Given the description of an element on the screen output the (x, y) to click on. 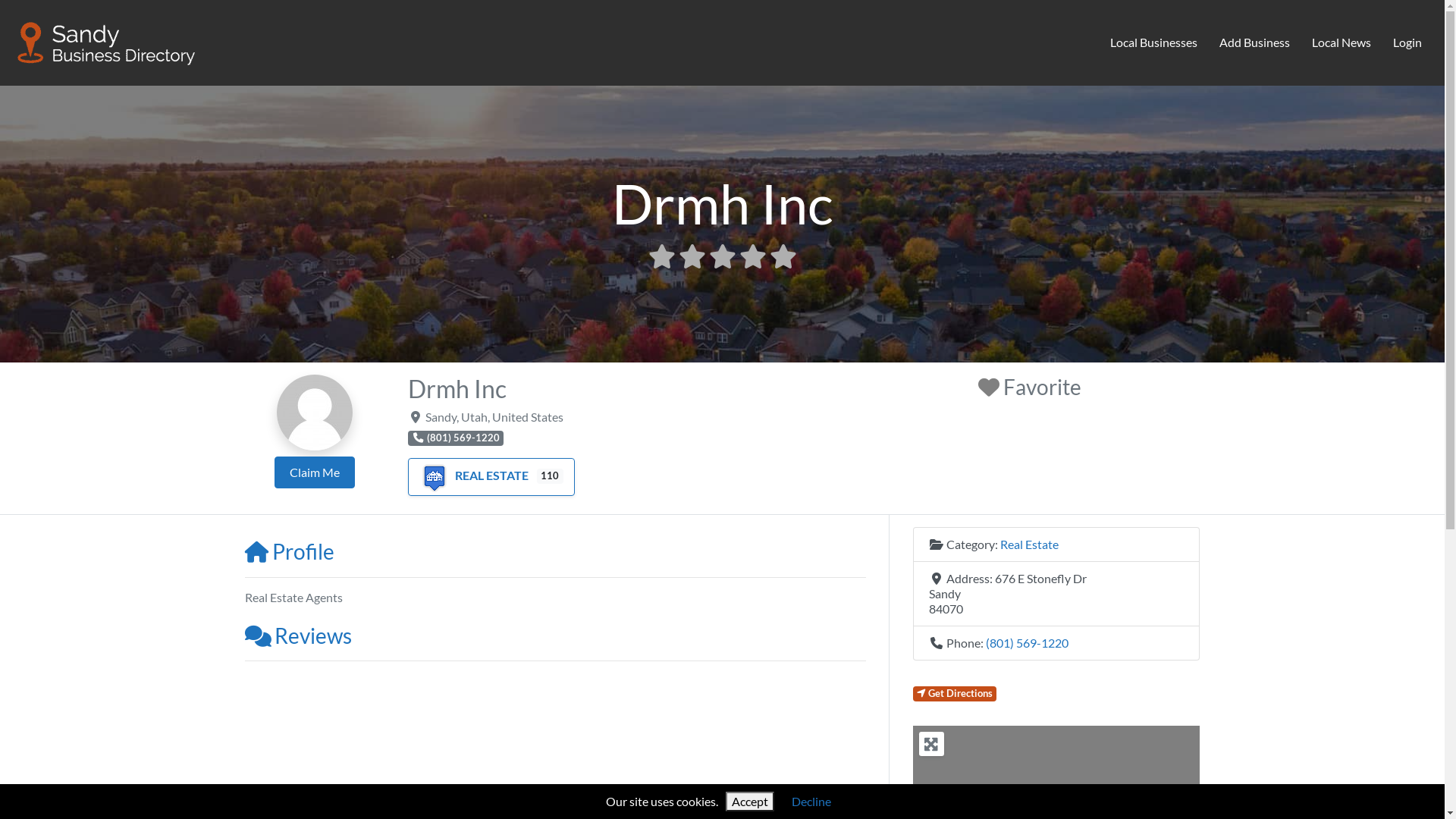
Local News Element type: text (1340, 42)
REAL ESTATE Element type: text (473, 474)
Reviews Element type: text (297, 635)
Sandy Business Directory Element type: hover (106, 40)
Decline Element type: text (811, 800)
Login Element type: text (1406, 42)
Accept Element type: text (749, 801)
No rating yet! Element type: hover (721, 255)
Favorite Element type: text (1029, 386)
(801) 569-1220 Element type: text (455, 437)
Claim Me Element type: text (314, 472)
Get Directions Element type: text (955, 693)
Real Estate Element type: text (1028, 543)
(801) 569-1220 Element type: text (1026, 642)
Add Business Element type: text (1254, 42)
Profile Element type: text (288, 551)
Local Businesses Element type: text (1153, 42)
